Given the description of an element on the screen output the (x, y) to click on. 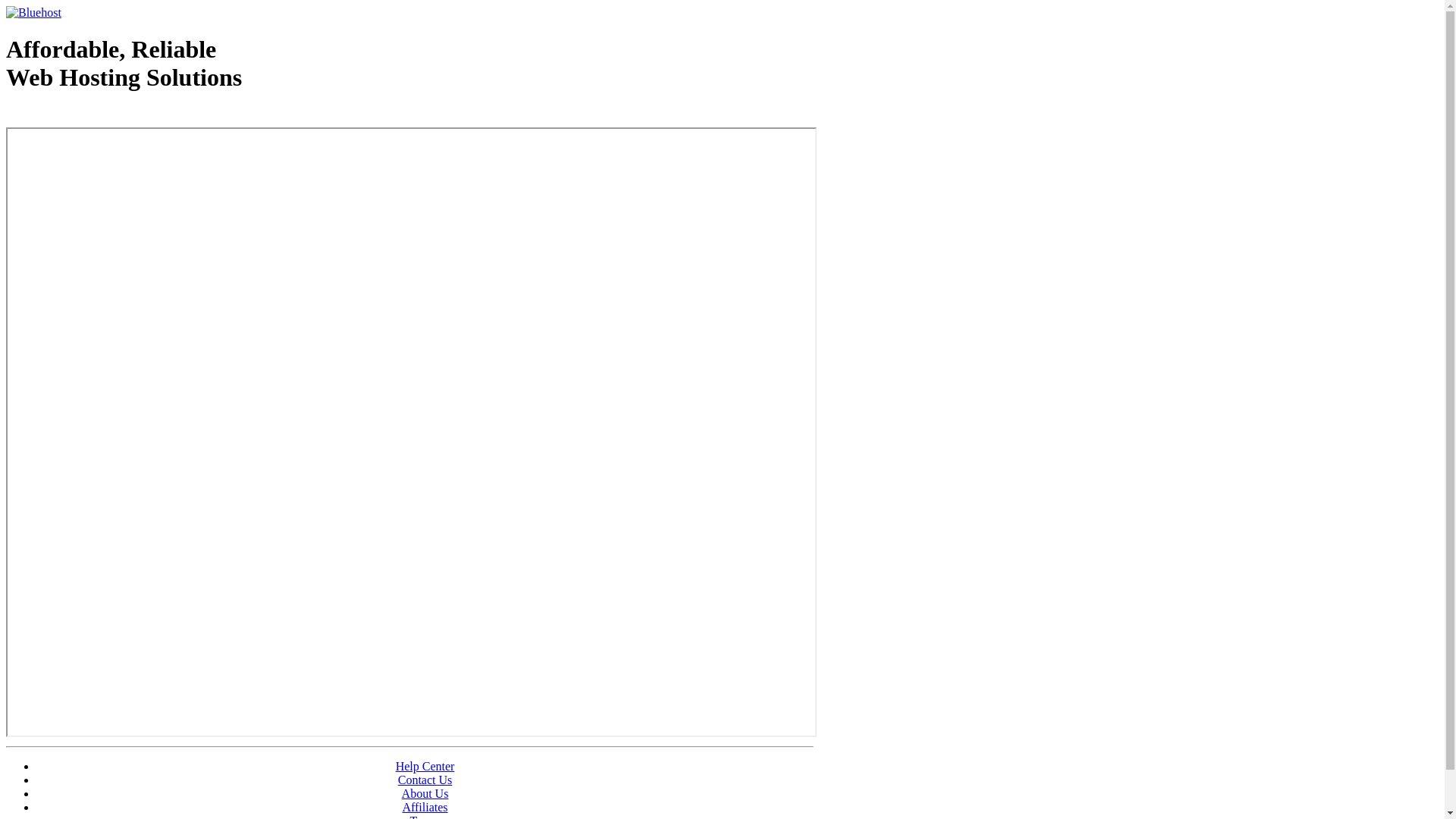
Affiliates Element type: text (424, 806)
Help Center Element type: text (425, 765)
Contact Us Element type: text (425, 779)
About Us Element type: text (424, 793)
Web Hosting - courtesy of www.bluehost.com Element type: text (94, 115)
